Given the description of an element on the screen output the (x, y) to click on. 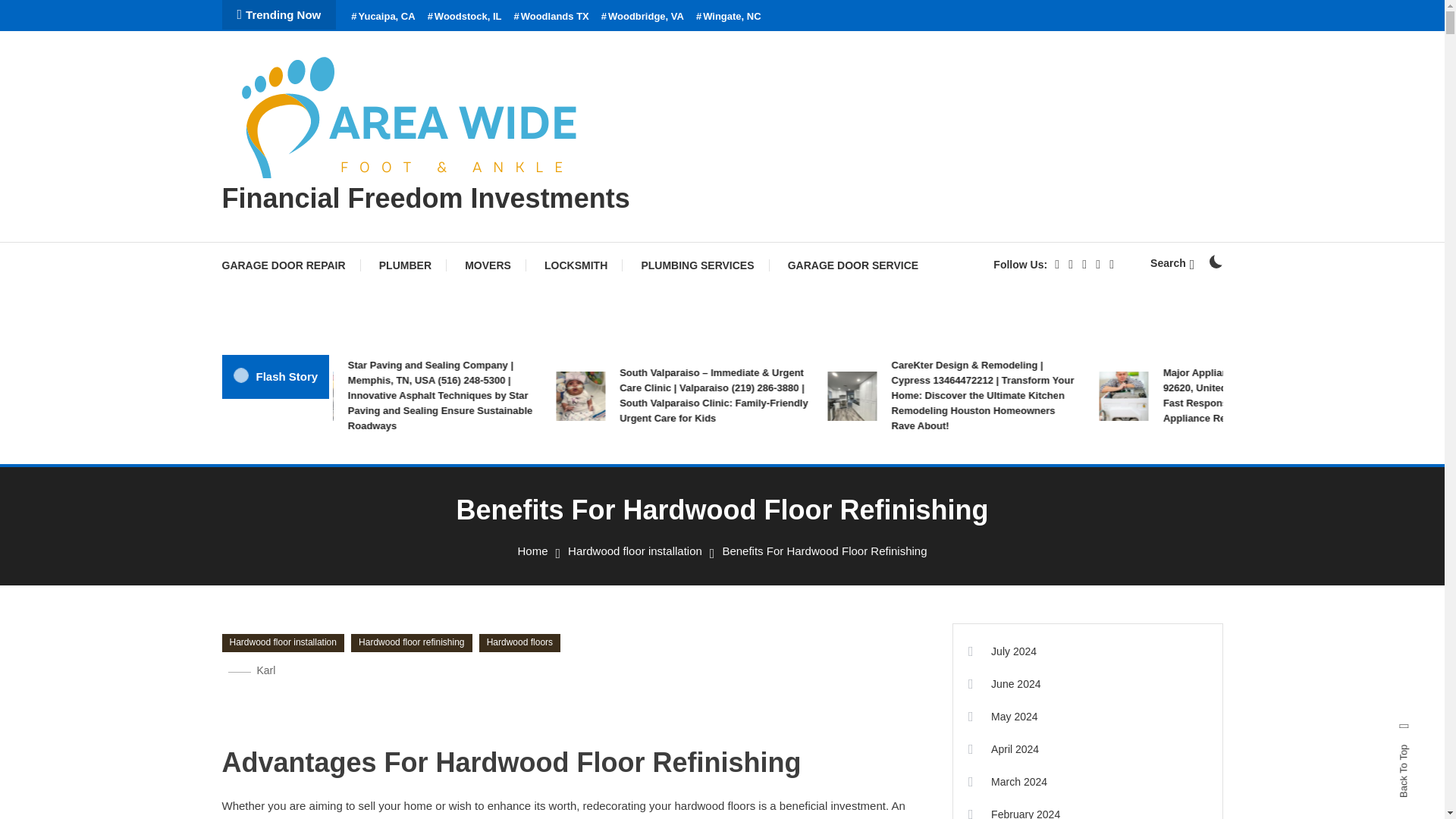
Yucaipa, CA (382, 16)
MOVERS (487, 265)
LOCKSMITH (576, 265)
on (1215, 261)
GARAGE DOOR REPAIR (290, 265)
PLUMBER (405, 265)
Woodlands TX (550, 16)
GARAGE DOOR SERVICE (853, 265)
Search (1171, 263)
Woodbridge, VA (642, 16)
Financial Freedom Investments (424, 197)
Wingate, NC (728, 16)
Search (768, 434)
PLUMBING SERVICES (697, 265)
Woodstock, IL (465, 16)
